Given the description of an element on the screen output the (x, y) to click on. 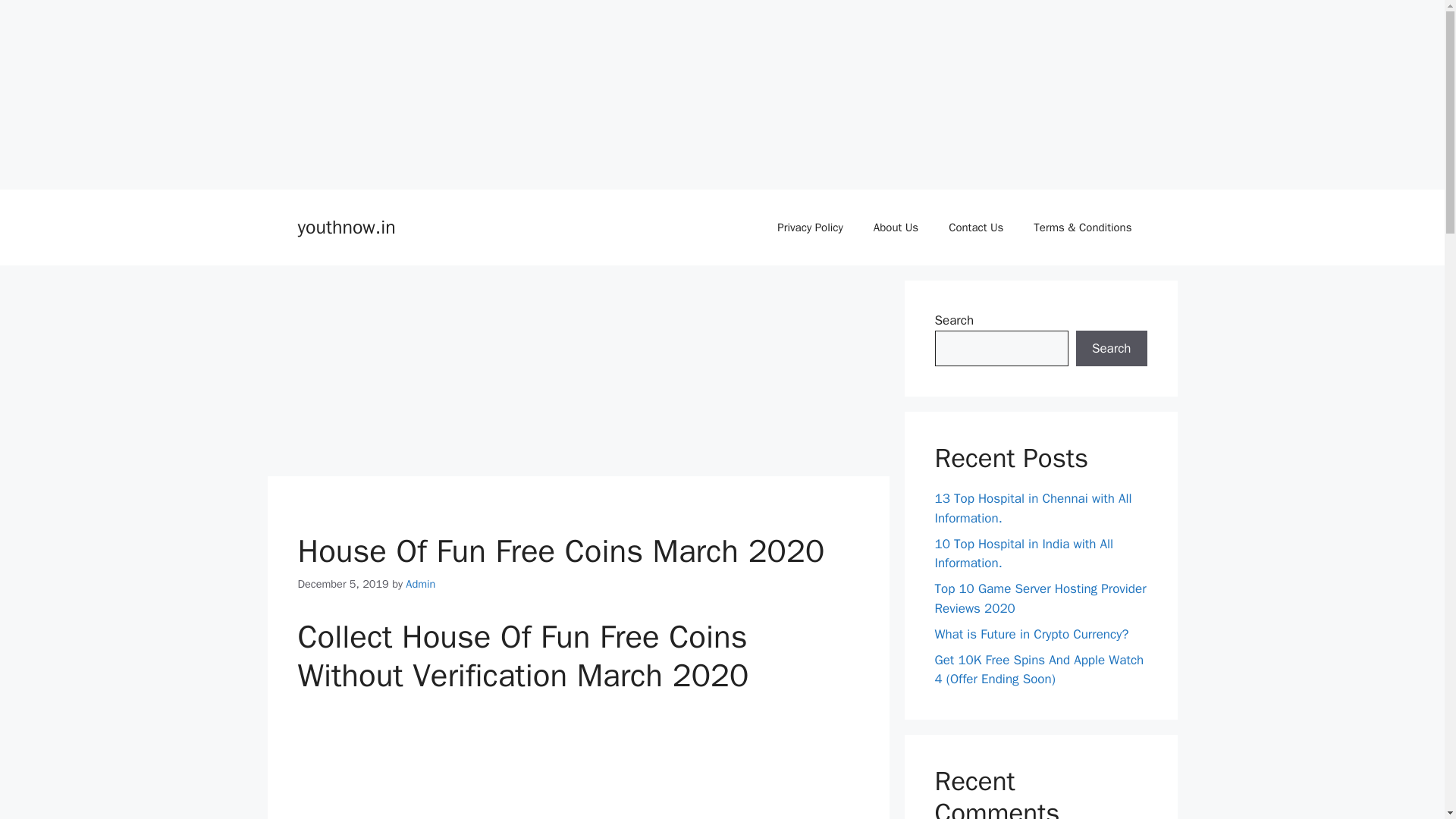
youthnow.in (345, 227)
Contact Us (975, 227)
What is Future in Crypto Currency? (1031, 634)
Privacy Policy (810, 227)
10 Top Hospital in India with All Information. (1023, 552)
About Us (896, 227)
Search (1111, 348)
Top 10 Game Server Hosting Provider Reviews 2020 (1039, 598)
Admin (420, 583)
View all posts by Admin (420, 583)
13 Top Hospital in Chennai with All Information. (1032, 508)
